Given the description of an element on the screen output the (x, y) to click on. 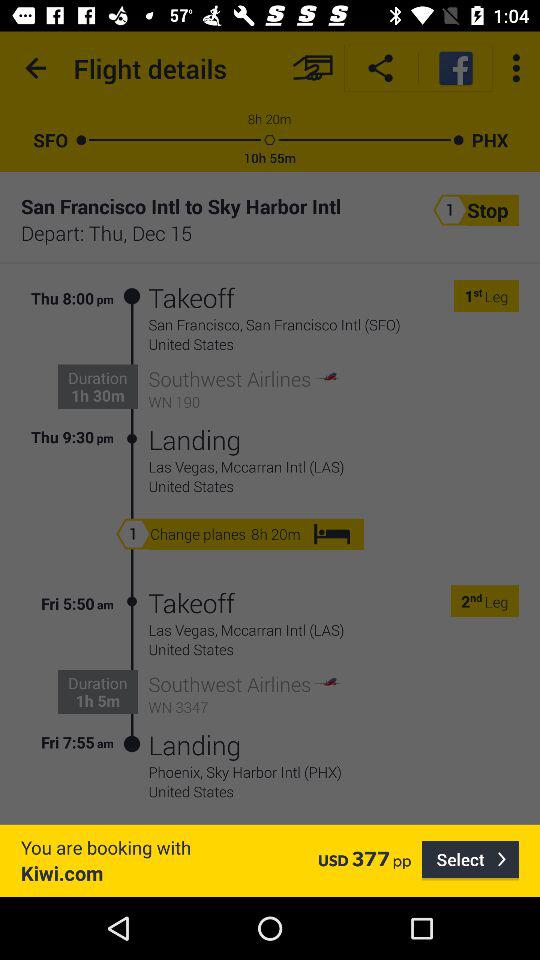
click item next to takeoff item (131, 673)
